Given the description of an element on the screen output the (x, y) to click on. 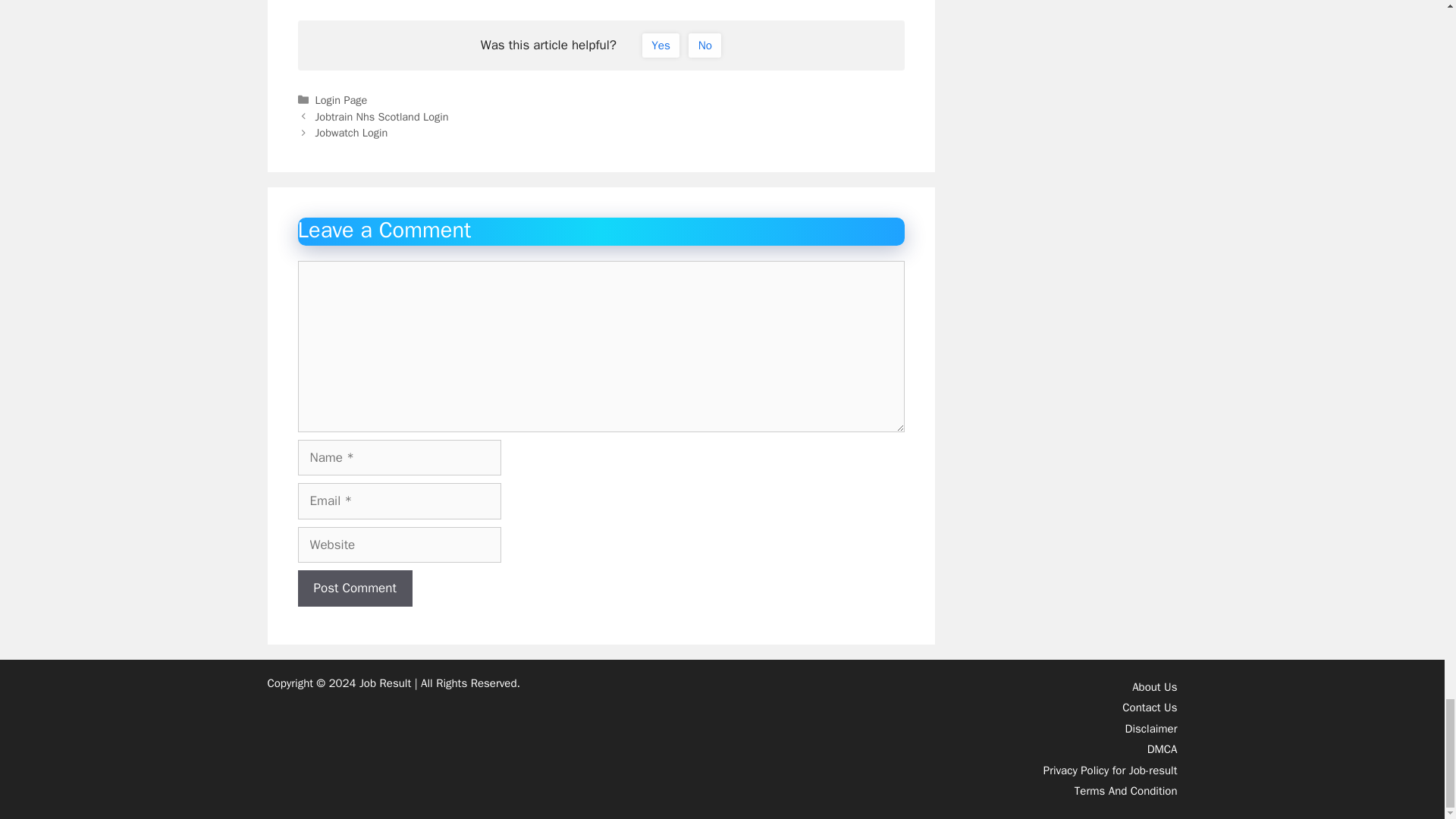
Post Comment (354, 588)
Jobtrain Nhs Scotland Login (381, 116)
Post Comment (354, 588)
Jobwatch Login (351, 132)
Login Page (341, 100)
